Given the description of an element on the screen output the (x, y) to click on. 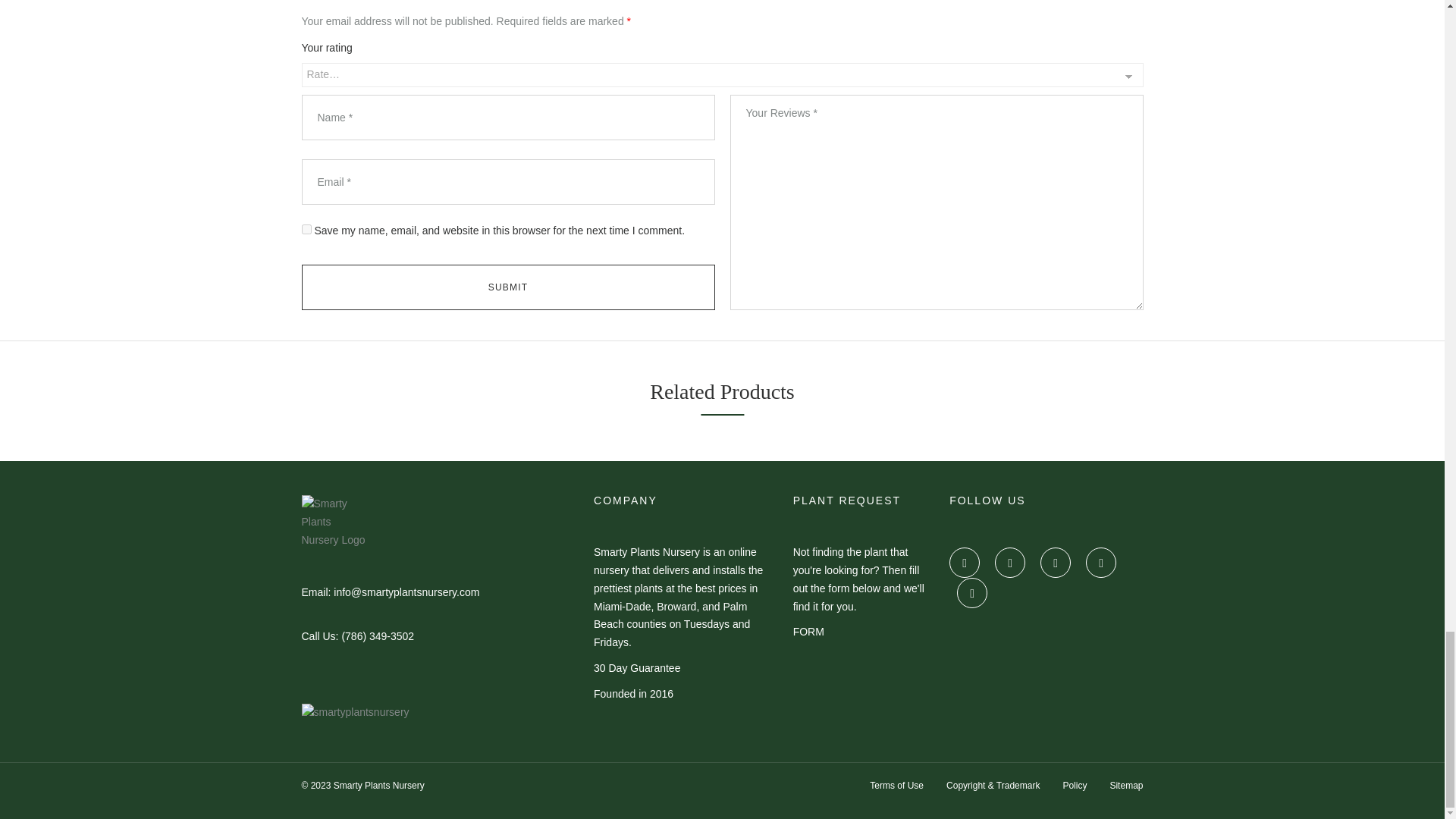
yes (306, 229)
Submit (507, 287)
